Given the description of an element on the screen output the (x, y) to click on. 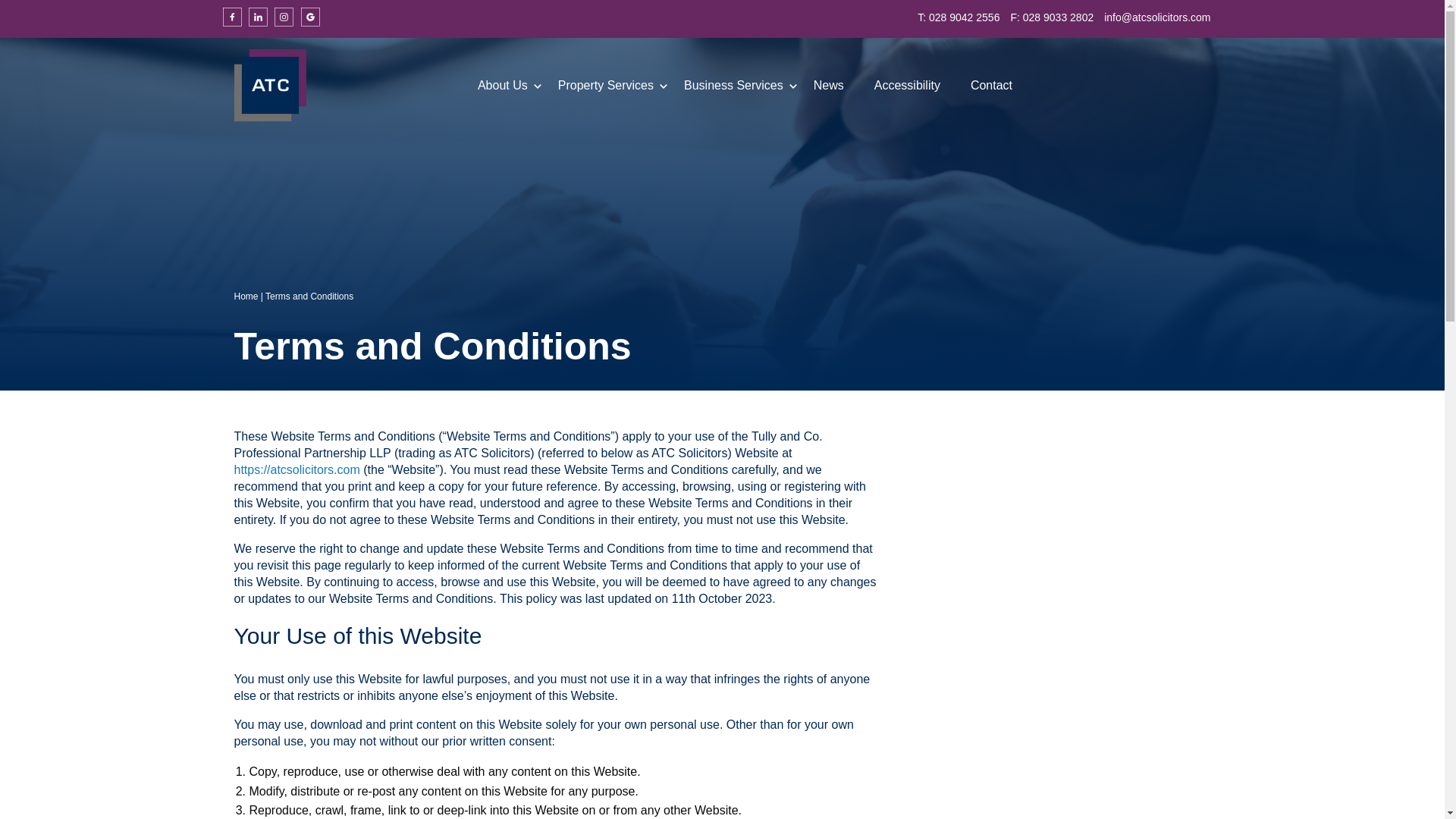
T: 028 9042 2556 (957, 17)
About Us (502, 85)
Business Services (733, 85)
Property Services (605, 85)
F: 028 9033 2802 (1051, 17)
